Given the description of an element on the screen output the (x, y) to click on. 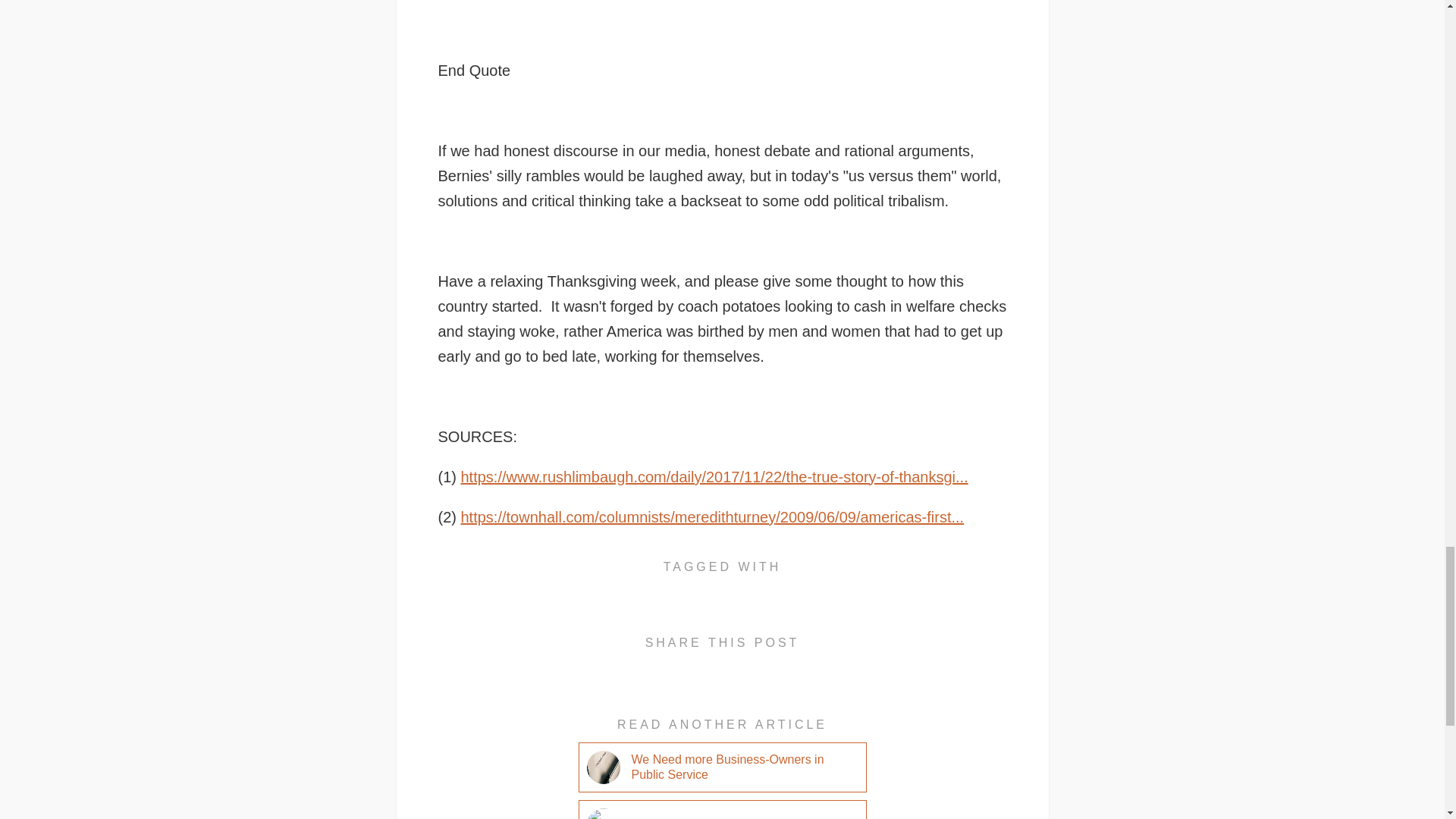
Share this Post Google Plus (703, 668)
Share this Post Facebook (665, 668)
Share this Post Twitter (779, 668)
Google Plus (703, 668)
LinkedIn (741, 668)
We Need more Business-Owners in Public Service (732, 767)
Facebook (665, 668)
Share this Post LinkedIn (741, 668)
Twitter (779, 668)
